Given the description of an element on the screen output the (x, y) to click on. 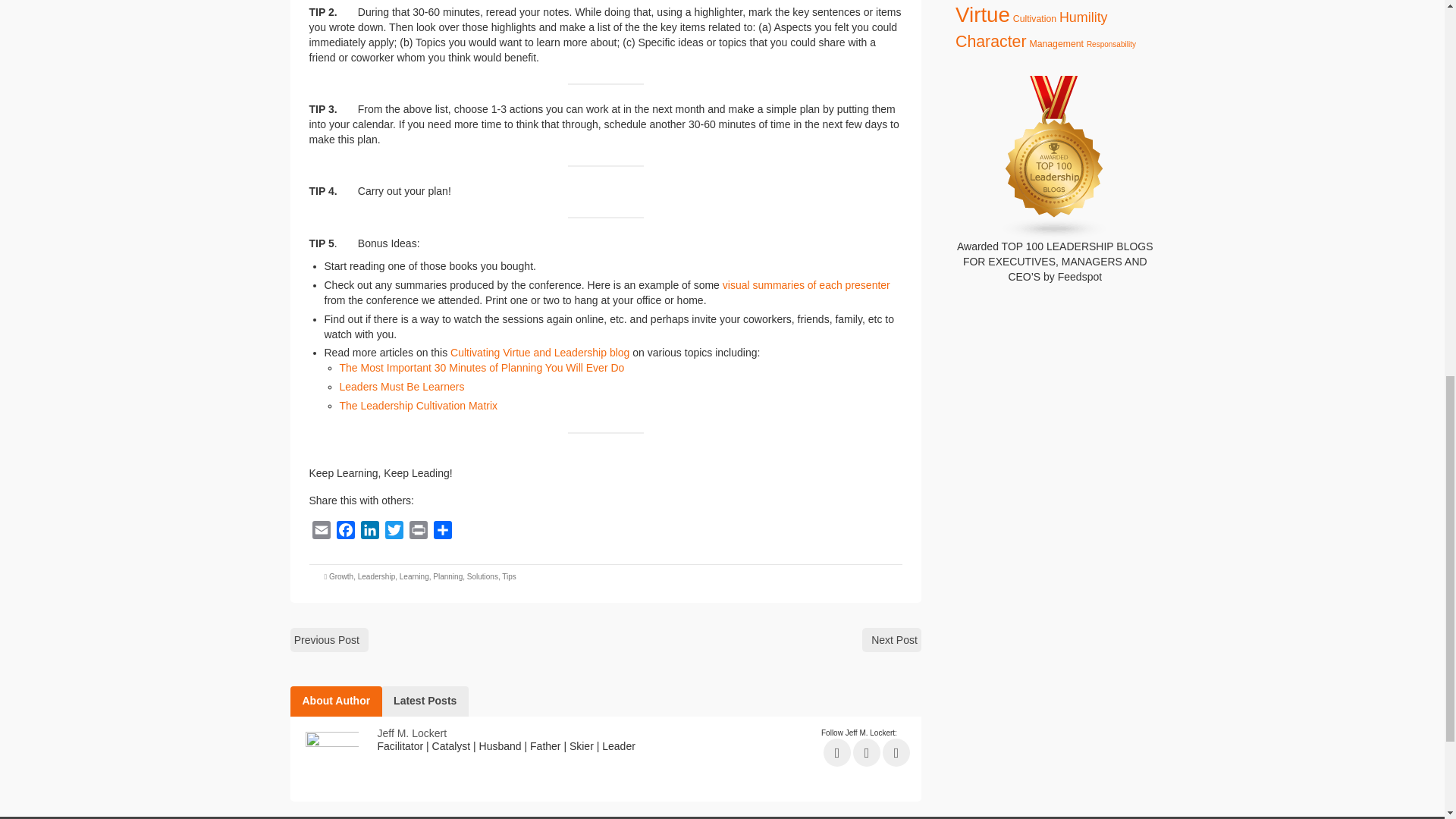
Facebook (345, 532)
Posts by Jeff M. Lockert (411, 733)
Email (320, 532)
Follow  Jeff M. Lockert on Facebook (837, 752)
Print (418, 532)
Follow  Jeff M. Lockert on Twitter (866, 752)
LinkedIn (369, 532)
Follow  Jeff M. Lockert on linkedin (896, 752)
Twitter (393, 532)
